Given the description of an element on the screen output the (x, y) to click on. 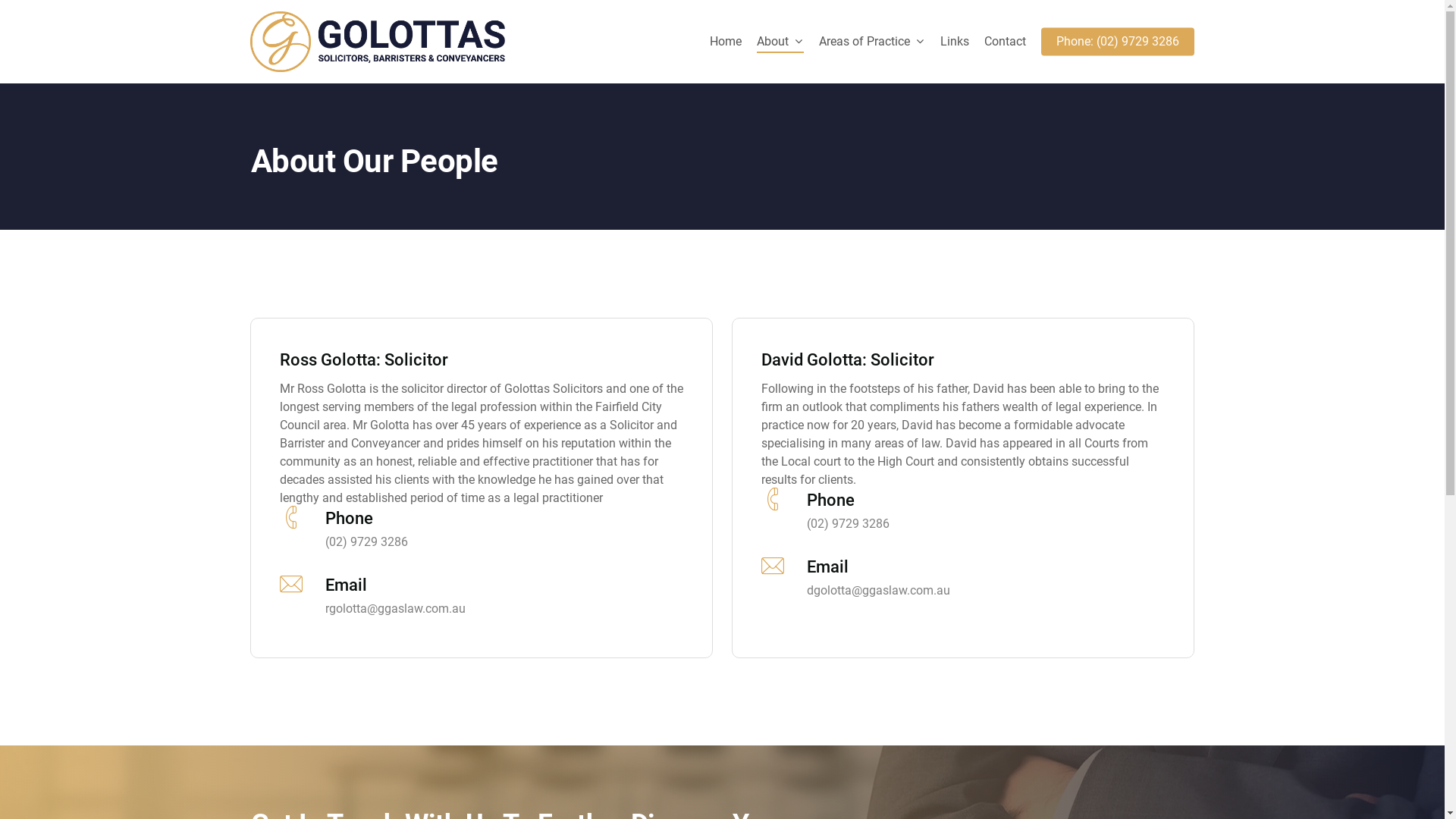
Links Element type: text (954, 41)
Phone: (02) 9729 3286 Element type: text (1117, 41)
About Element type: text (779, 41)
Areas of Practice Element type: text (872, 41)
Contact Element type: text (1005, 41)
Home Element type: text (725, 41)
